Given the description of an element on the screen output the (x, y) to click on. 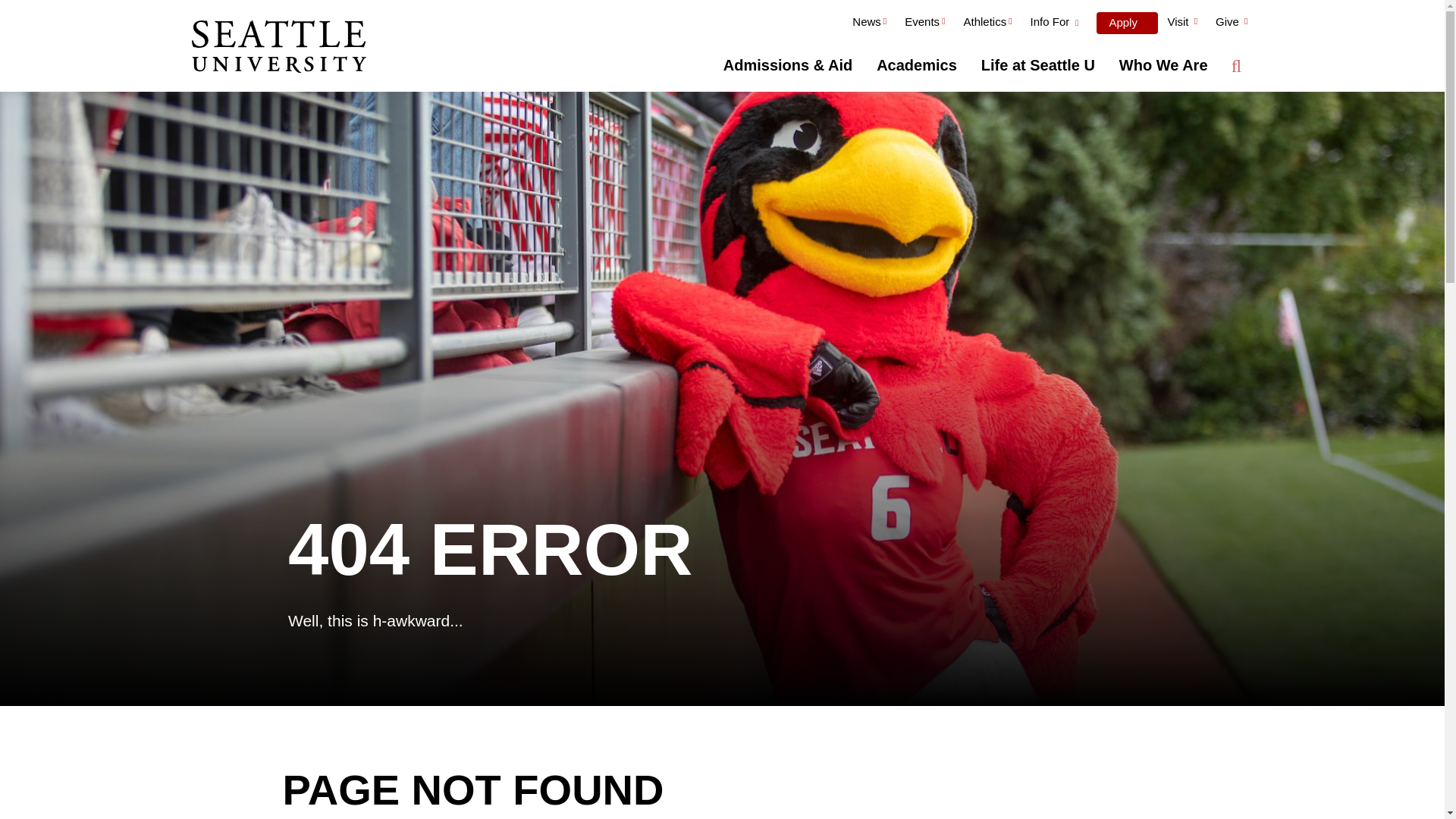
Events (924, 23)
Give (1231, 23)
Life at Seattle U (1037, 65)
Apply (1126, 23)
Academics (916, 65)
Visit (1182, 23)
News (869, 23)
Athletics (986, 23)
Click to visit the home page (277, 47)
